Given the description of an element on the screen output the (x, y) to click on. 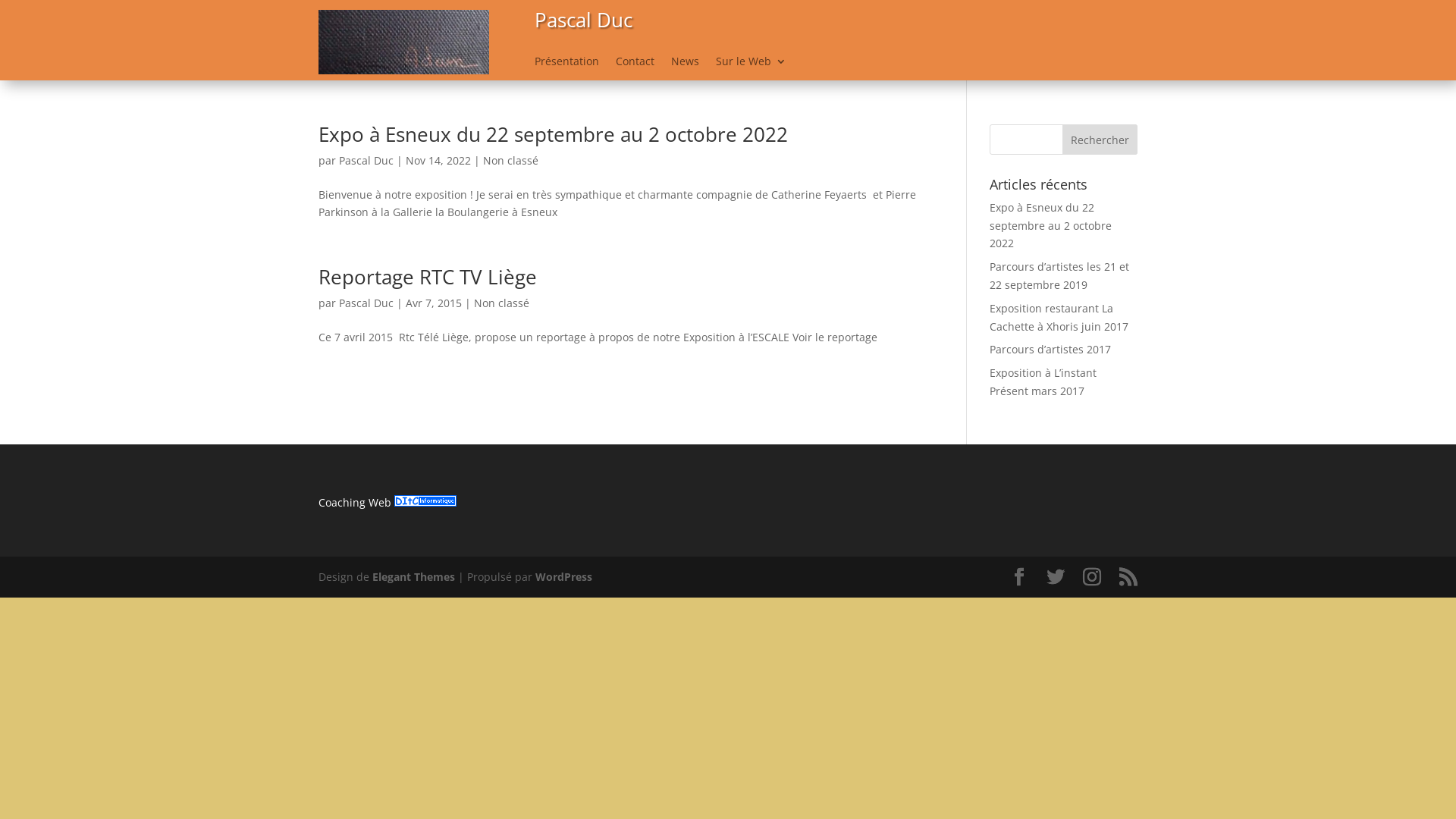
News Element type: text (685, 64)
Site mis en service par DITC informatique Element type: hover (425, 502)
Elegant Themes Element type: text (413, 576)
Contact Element type: text (634, 64)
Sur le Web Element type: text (750, 64)
Pascal Duc Element type: text (365, 160)
Rechercher Element type: text (1099, 139)
adam-sign-texture Element type: hover (403, 41)
Pascal Duc Element type: text (365, 302)
WordPress Element type: text (563, 576)
